Given the description of an element on the screen output the (x, y) to click on. 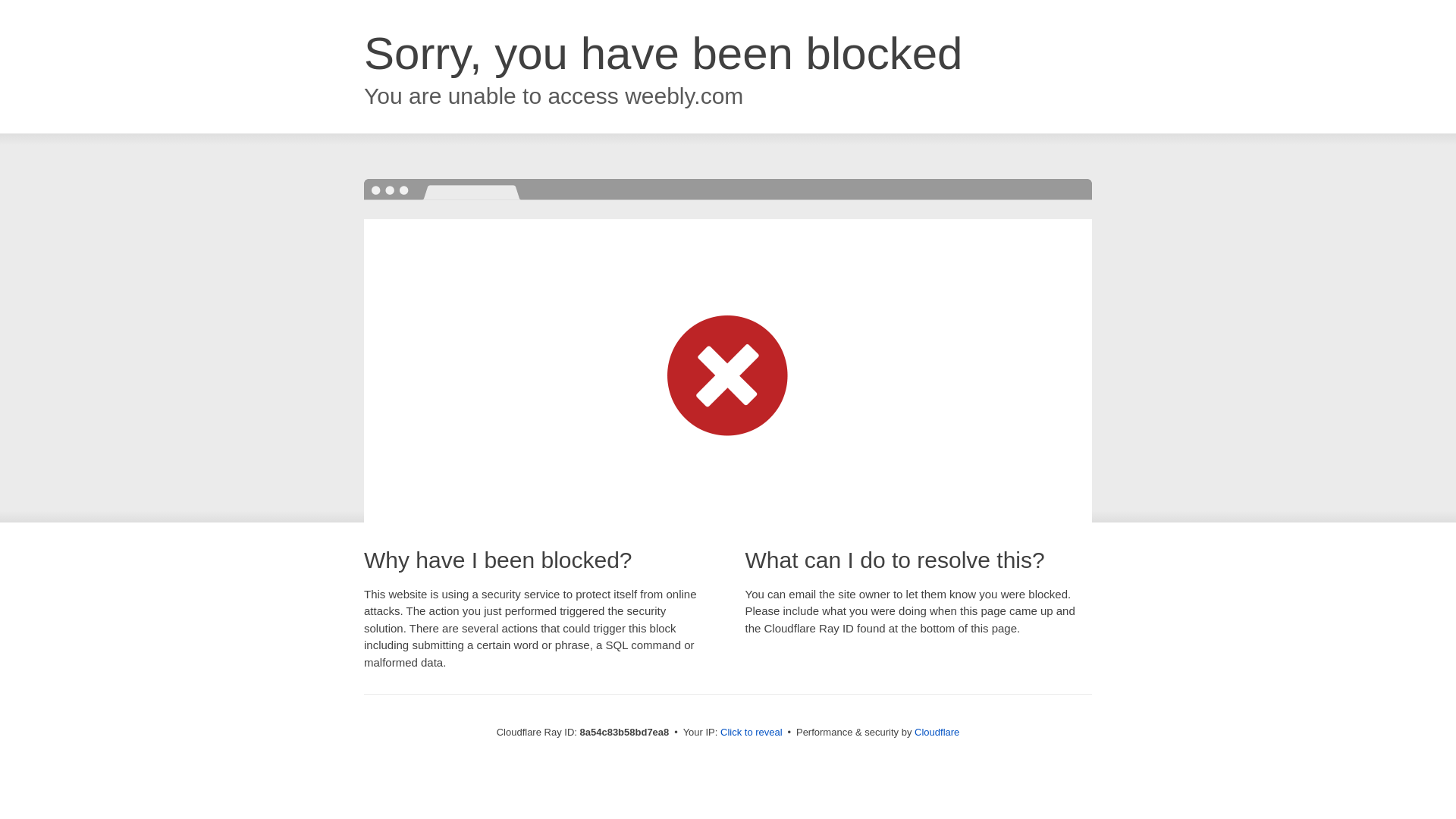
Cloudflare (936, 731)
Click to reveal (751, 732)
